Given the description of an element on the screen output the (x, y) to click on. 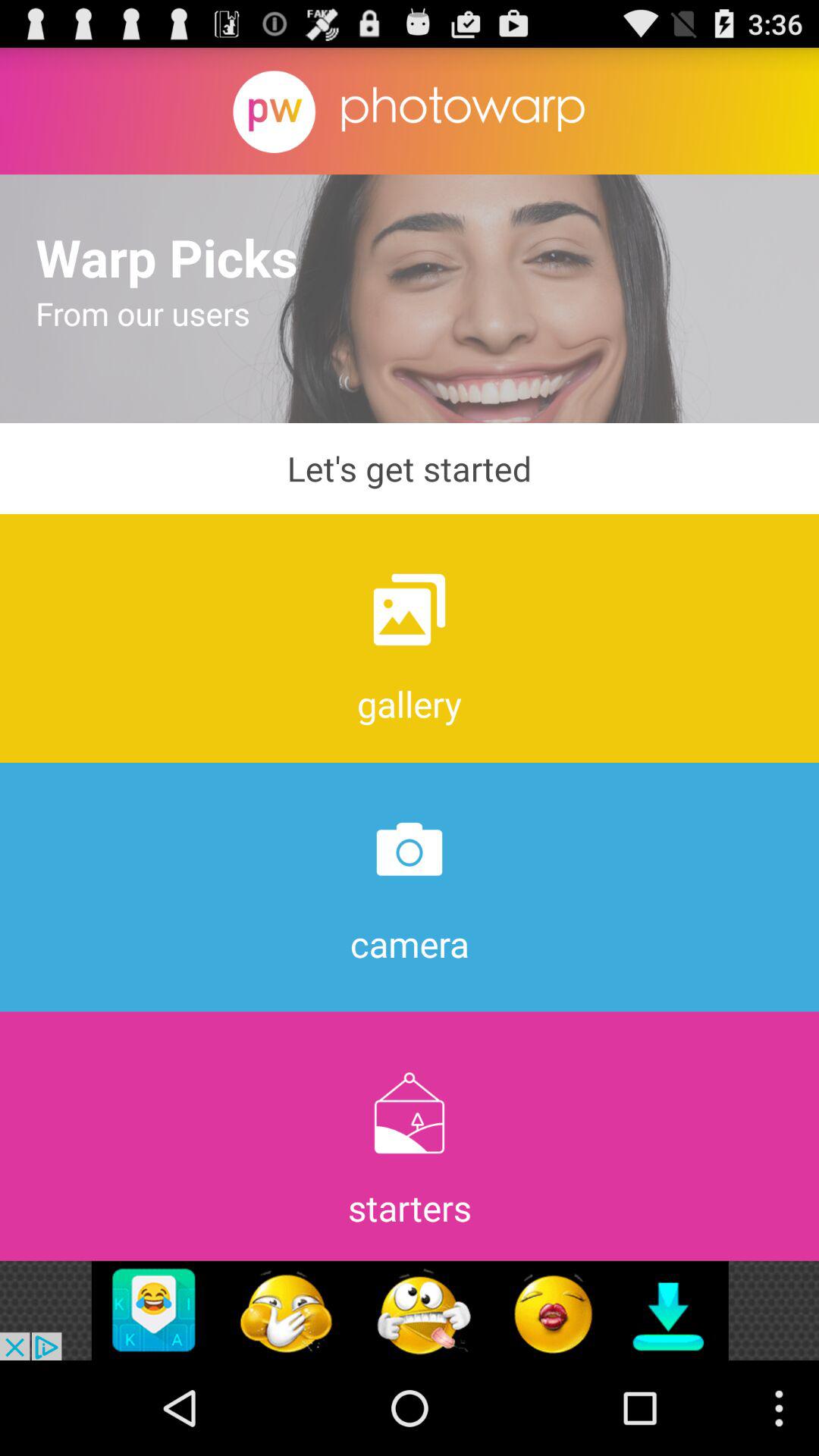
advertisement (409, 1310)
